Given the description of an element on the screen output the (x, y) to click on. 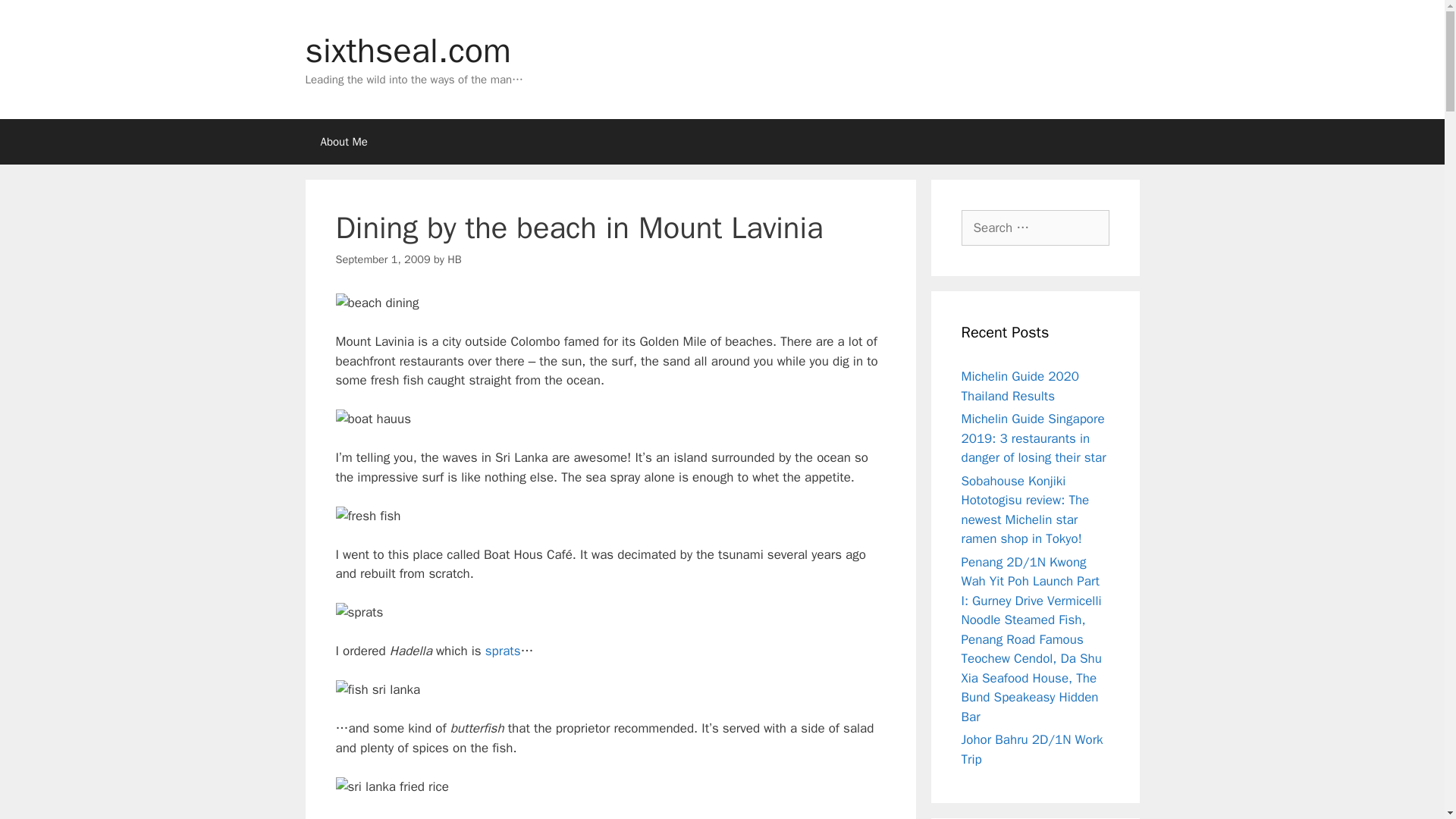
About Me (342, 140)
September 1, 2009 (381, 259)
Search for: (1034, 227)
sixthseal.com (407, 50)
View all posts by HB (453, 259)
HB (453, 259)
sprats (502, 650)
9:18 pm (381, 259)
